Given the description of an element on the screen output the (x, y) to click on. 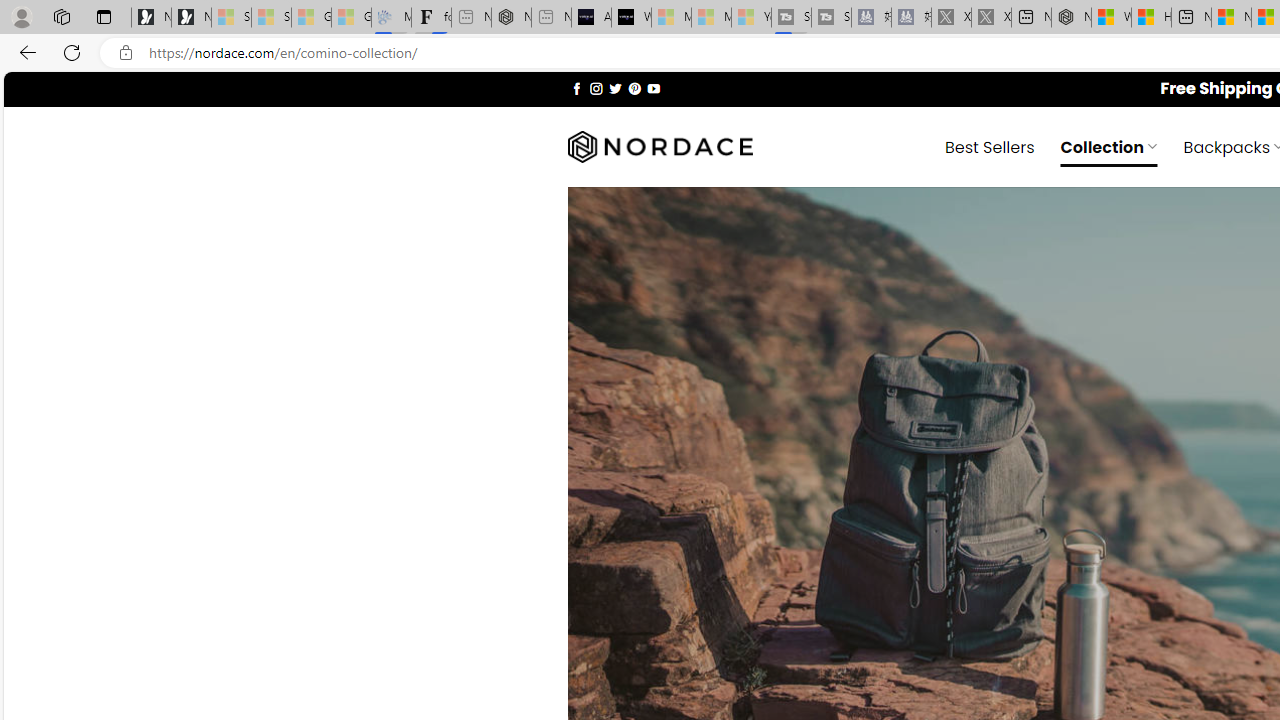
  Best Sellers (989, 146)
Newsletter Sign Up (191, 17)
Microsoft Start Sports - Sleeping (671, 17)
Follow on Twitter (615, 88)
Follow on Instagram (596, 88)
New tab - Sleeping (551, 17)
Wildlife - MSN (1111, 17)
